Given the description of an element on the screen output the (x, y) to click on. 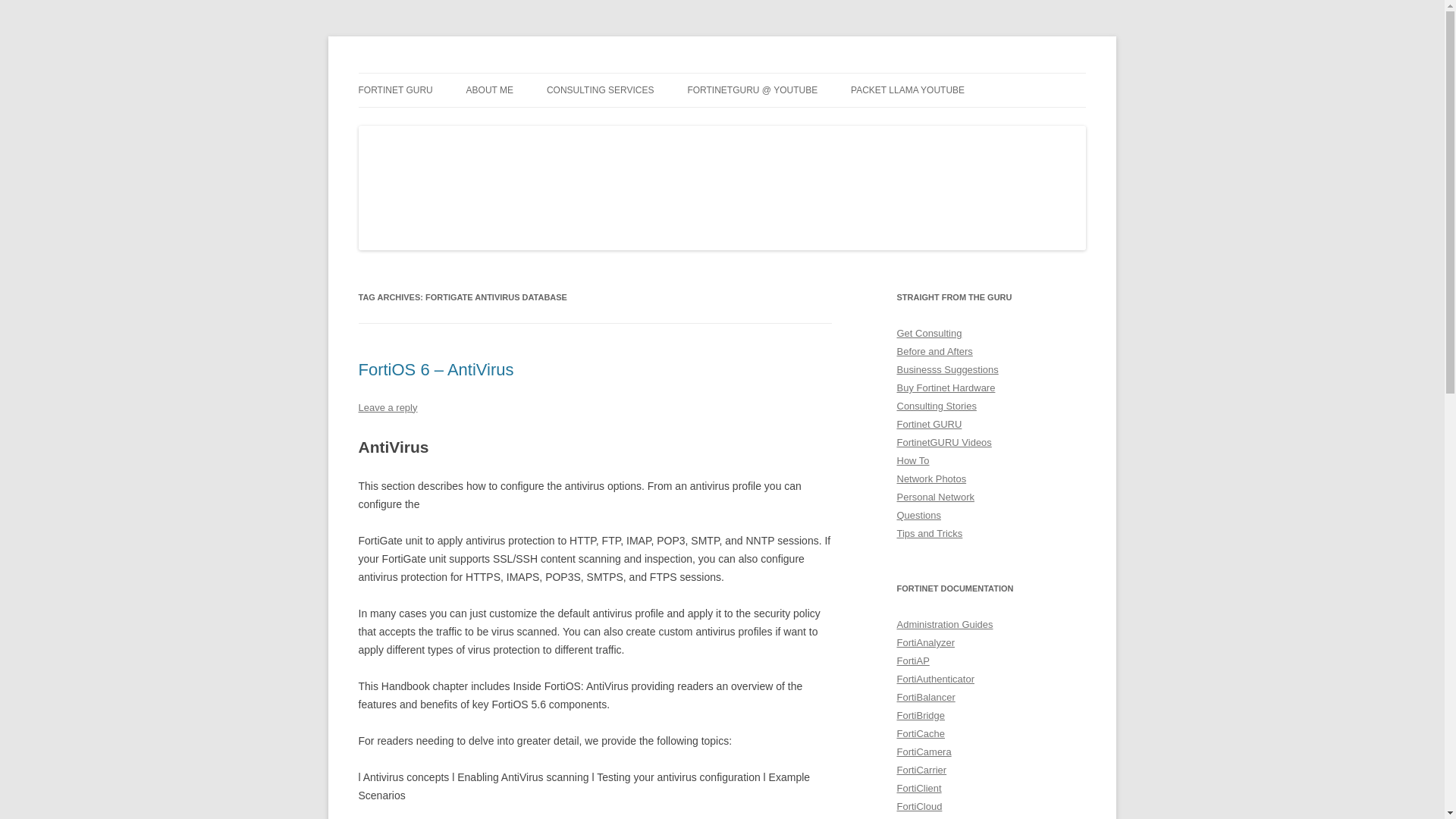
Consulting Stories (935, 405)
Leave a reply (387, 407)
Before and Afters (934, 351)
Fortinet GURU (426, 72)
Fortinet GURU (928, 423)
FortinetGURU Videos (943, 441)
PACKET LLAMA YOUTUBE (906, 90)
Get Consulting (928, 333)
Buy Fortinet Hardware (945, 387)
